Given the description of an element on the screen output the (x, y) to click on. 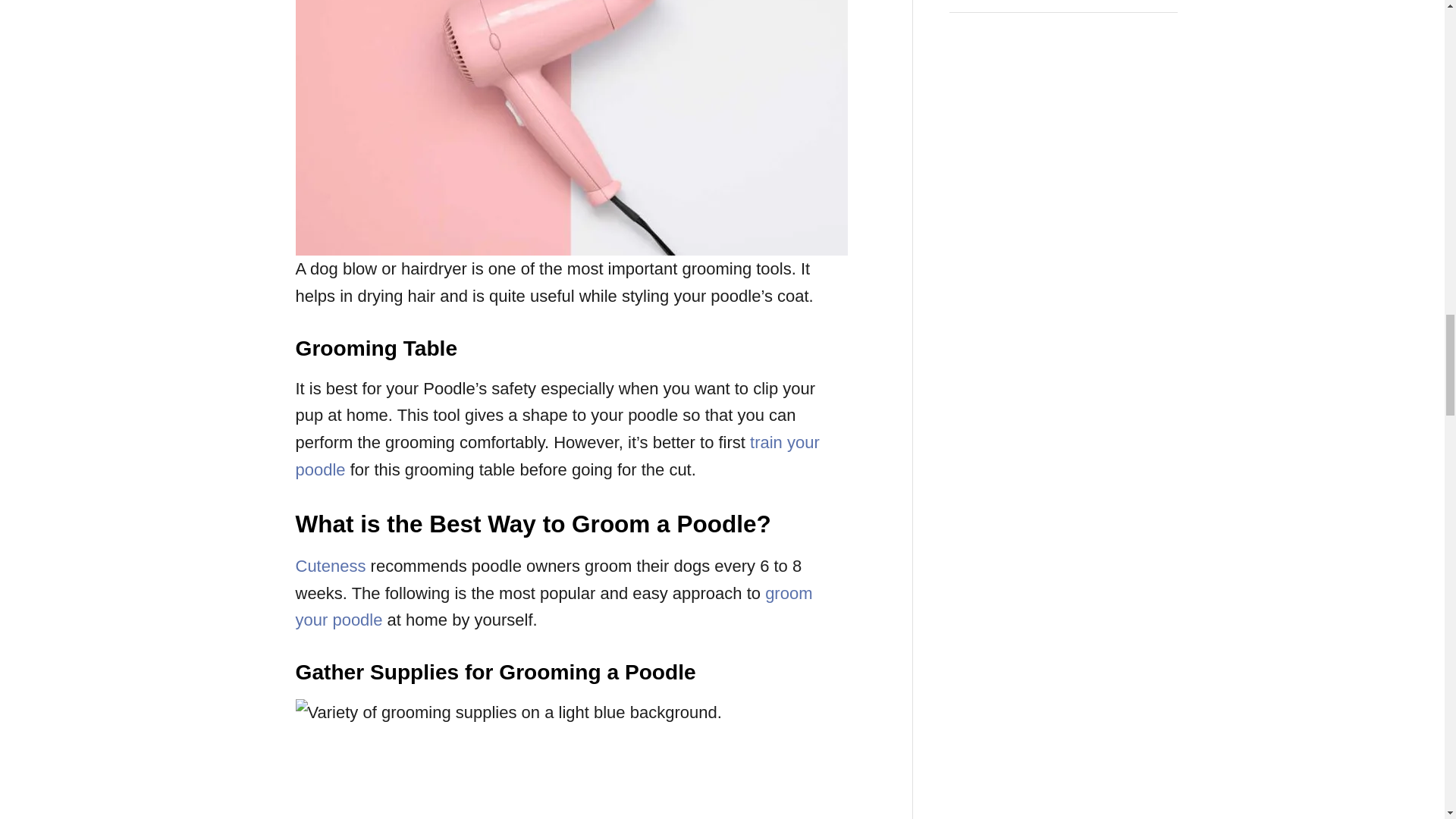
train your poodle (557, 456)
Cuteness (330, 565)
groom your poodle (553, 606)
